Given the description of an element on the screen output the (x, y) to click on. 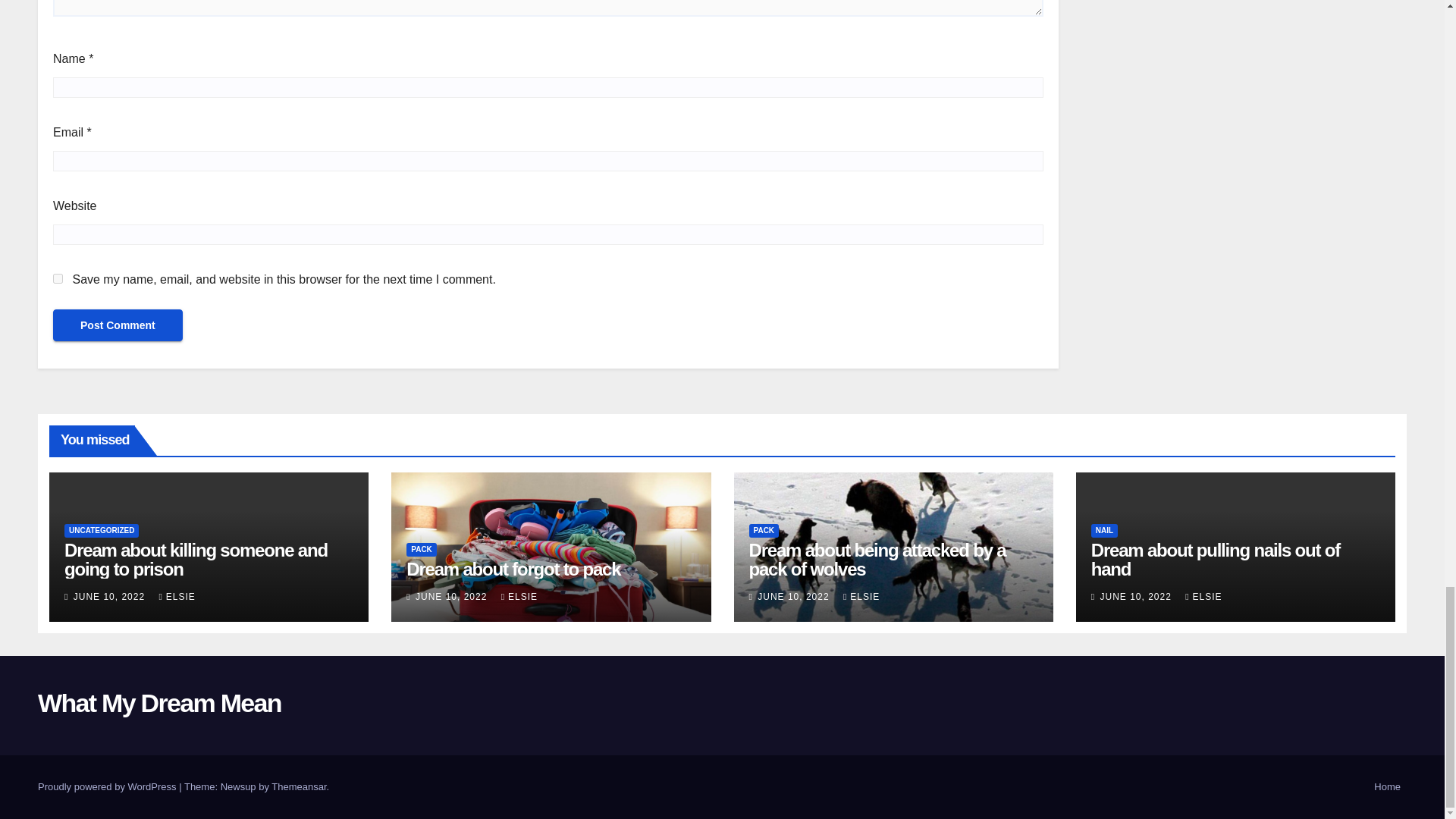
Permalink to: Dream about forgot to pack (513, 568)
Home (1387, 786)
Permalink to: Dream about pulling nails out of hand (1214, 559)
Post Comment (117, 325)
yes (57, 278)
Permalink to: Dream about being attacked by a pack of wolves (877, 559)
